Given the description of an element on the screen output the (x, y) to click on. 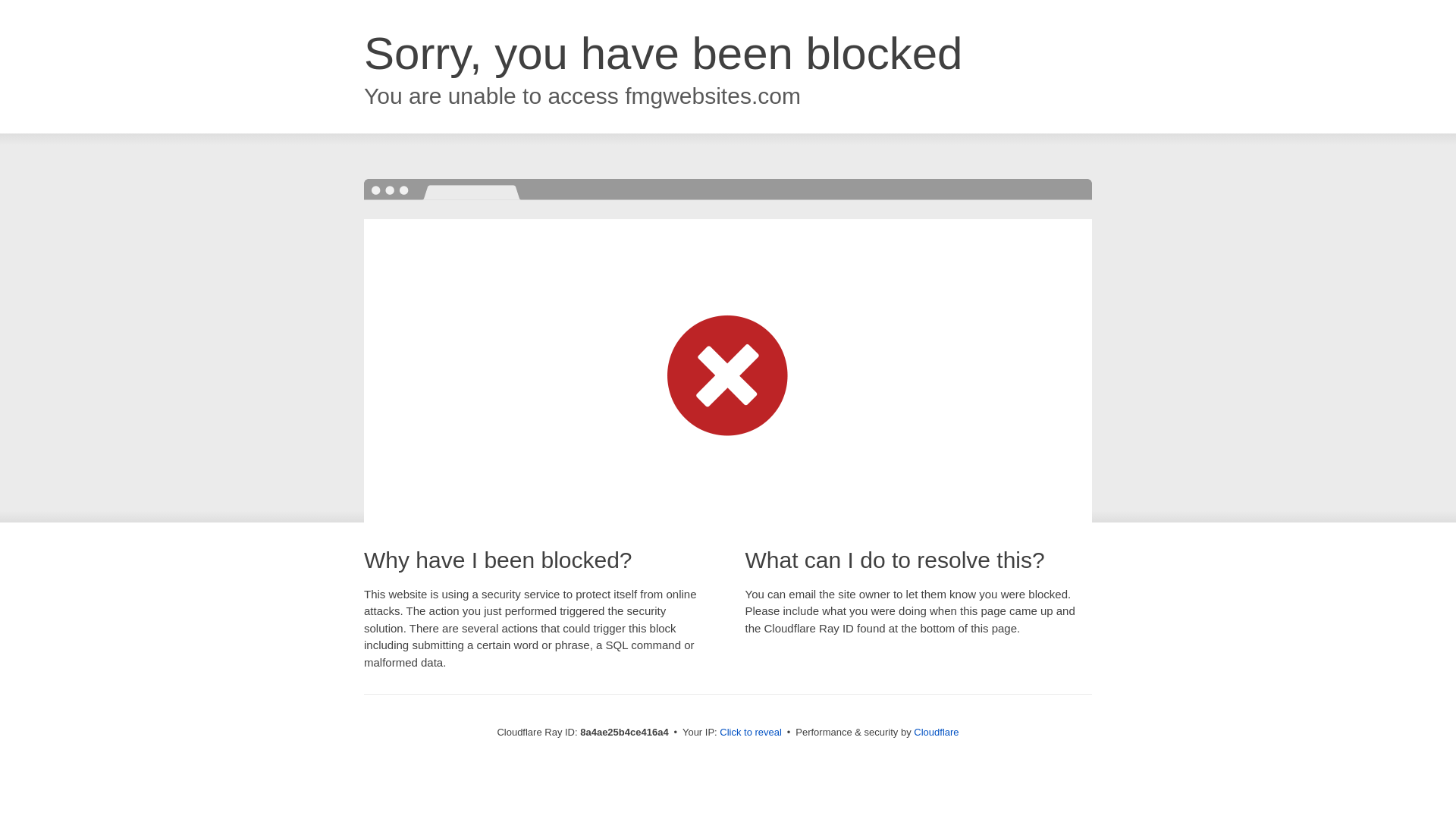
Cloudflare (936, 731)
Click to reveal (750, 732)
